Given the description of an element on the screen output the (x, y) to click on. 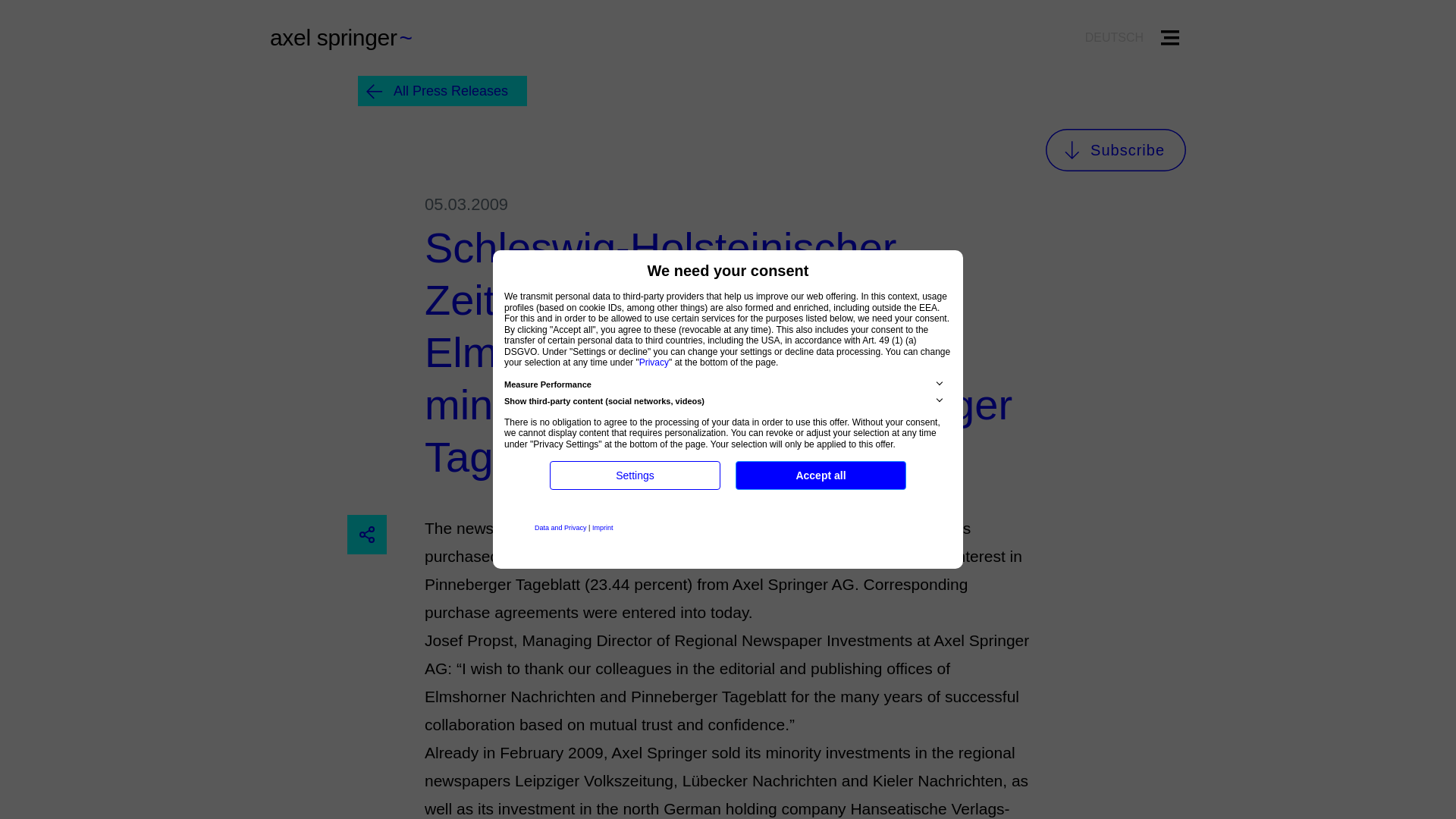
DEUTSCH (1114, 37)
Subscribe (1115, 149)
Home (351, 38)
All Press Releases (442, 91)
